Given the description of an element on the screen output the (x, y) to click on. 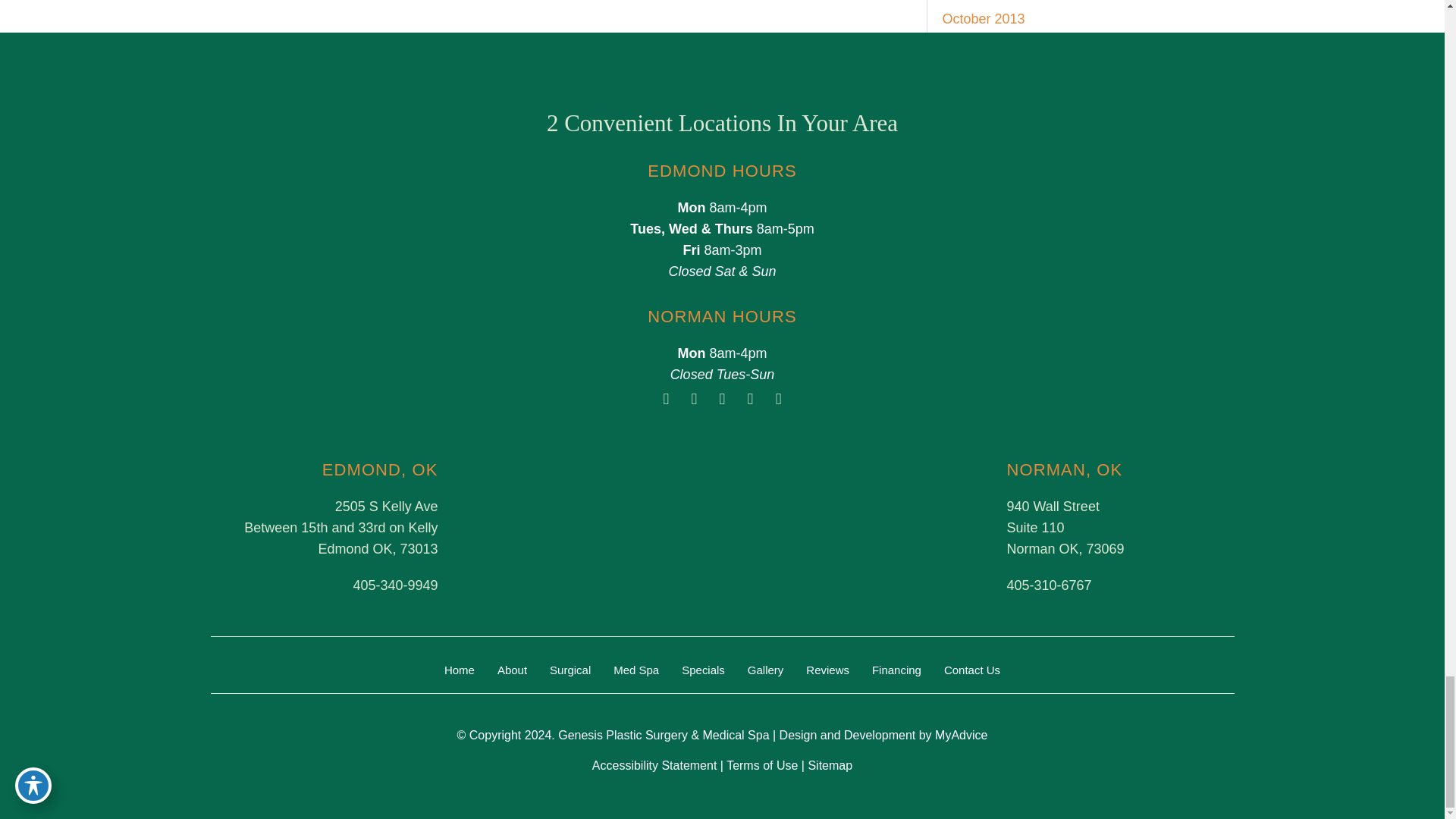
edmondoffice (590, 526)
normanoffice (852, 526)
